Given the description of an element on the screen output the (x, y) to click on. 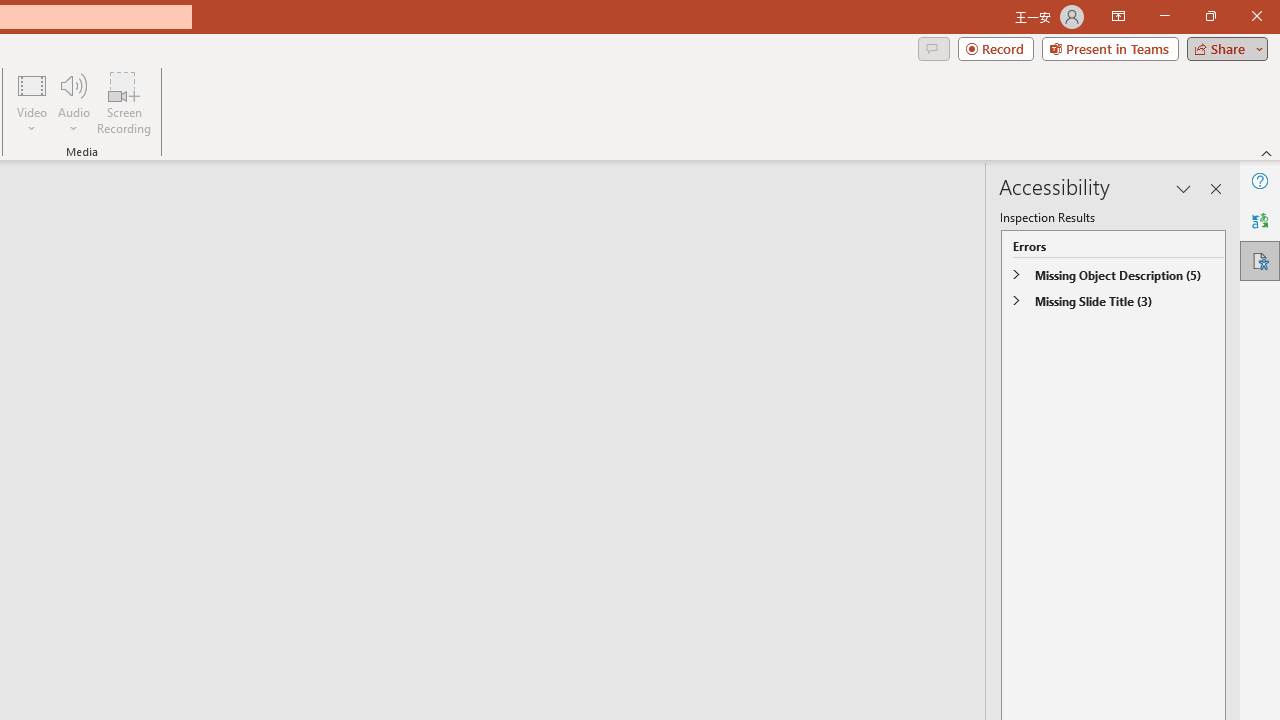
Restore Down (1210, 16)
Video (31, 102)
Share (1223, 48)
